Given the description of an element on the screen output the (x, y) to click on. 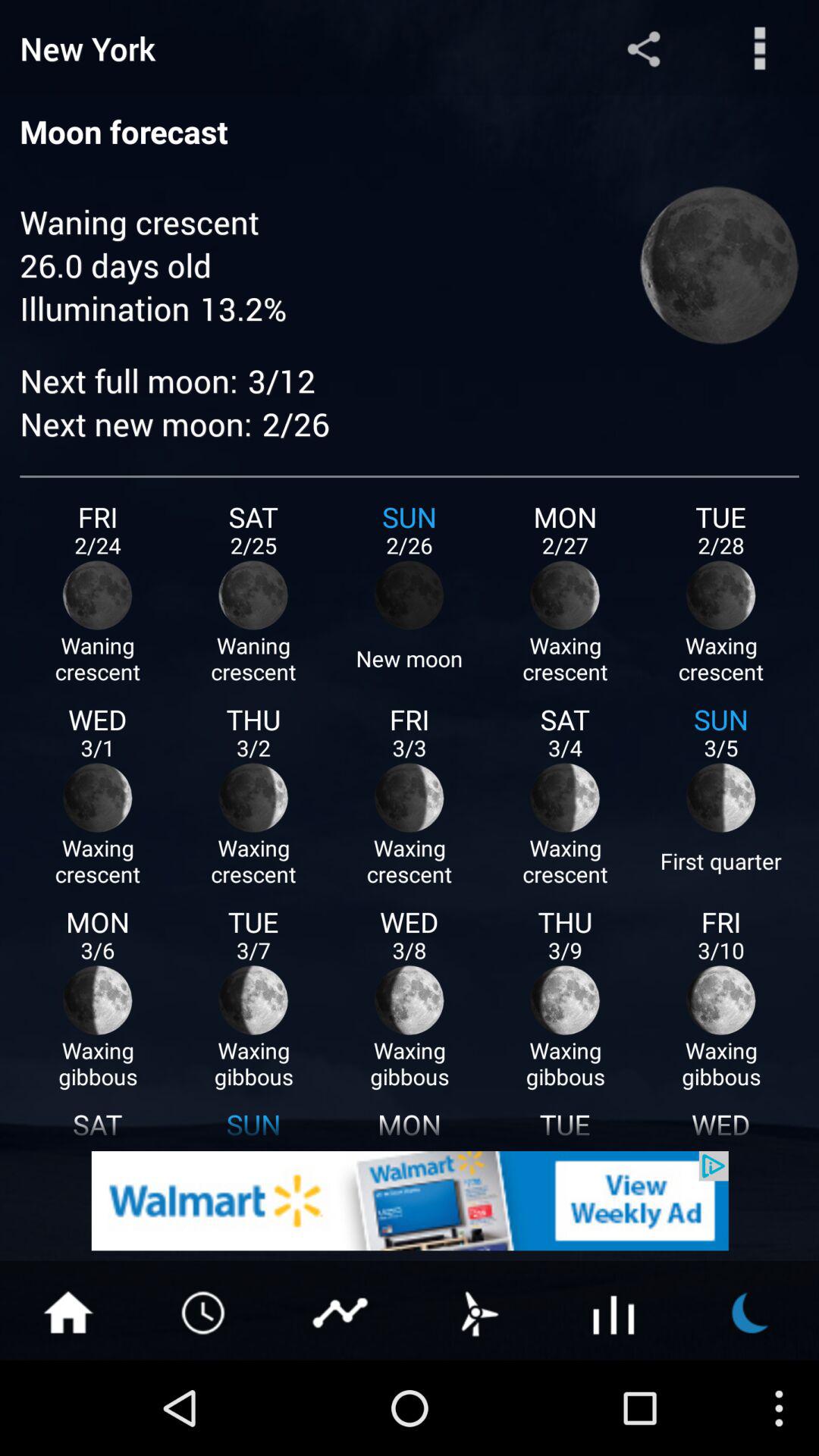
time settings (204, 1311)
